Given the description of an element on the screen output the (x, y) to click on. 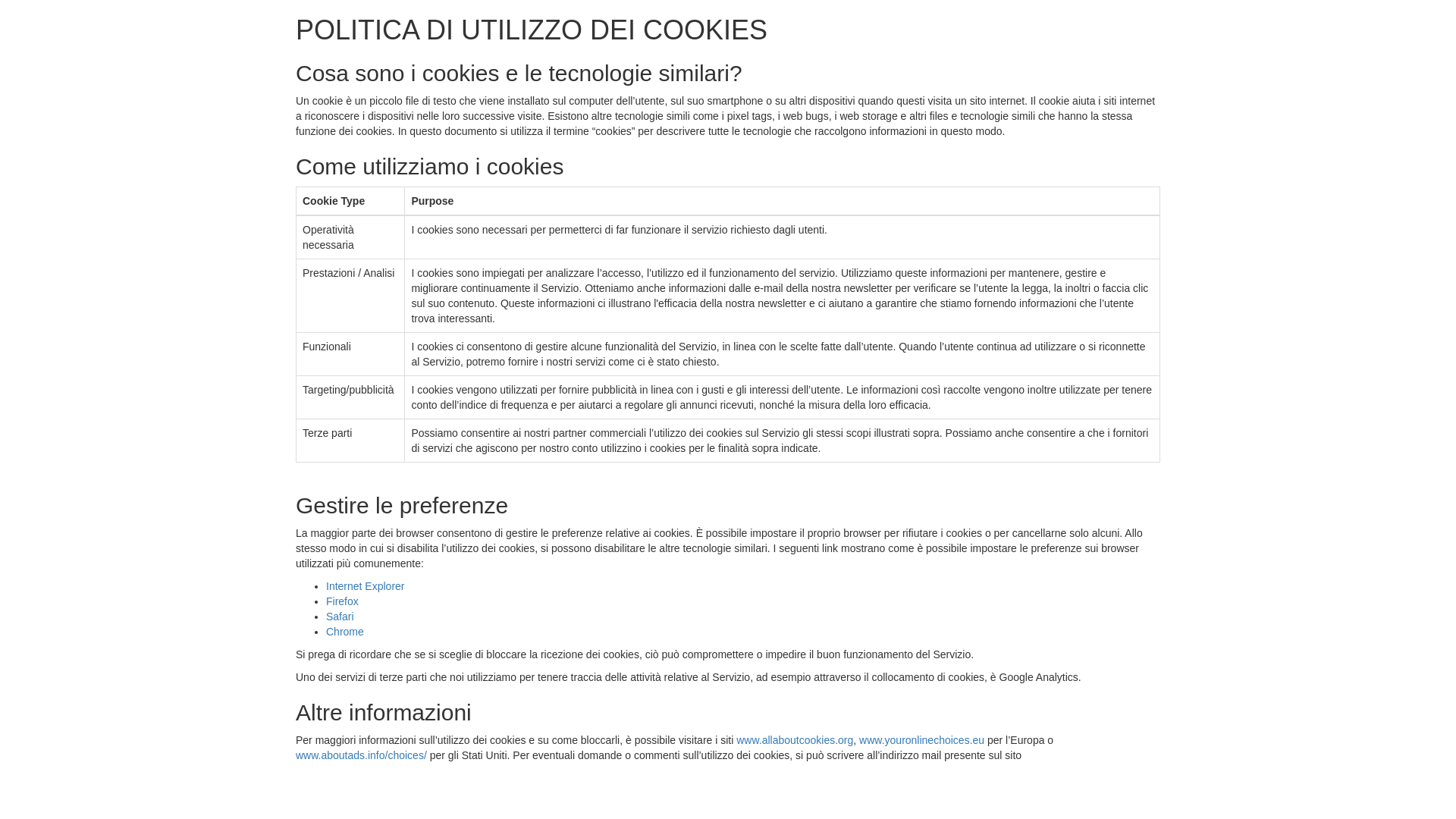
Firefox Element type: text (342, 601)
Chrome Element type: text (345, 631)
Safari Element type: text (340, 616)
www.youronlinechoices.eu Element type: text (921, 740)
www.aboutads.info/choices/ Element type: text (360, 755)
Internet Explorer Element type: text (365, 586)
www.allaboutcookies.org Element type: text (794, 740)
